Given the description of an element on the screen output the (x, y) to click on. 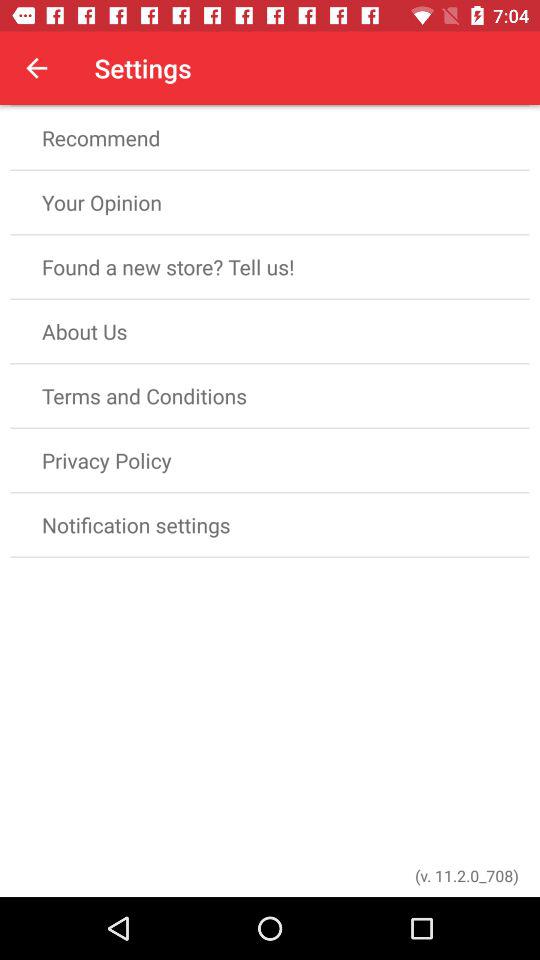
choose the app to the left of the settings (36, 68)
